Given the description of an element on the screen output the (x, y) to click on. 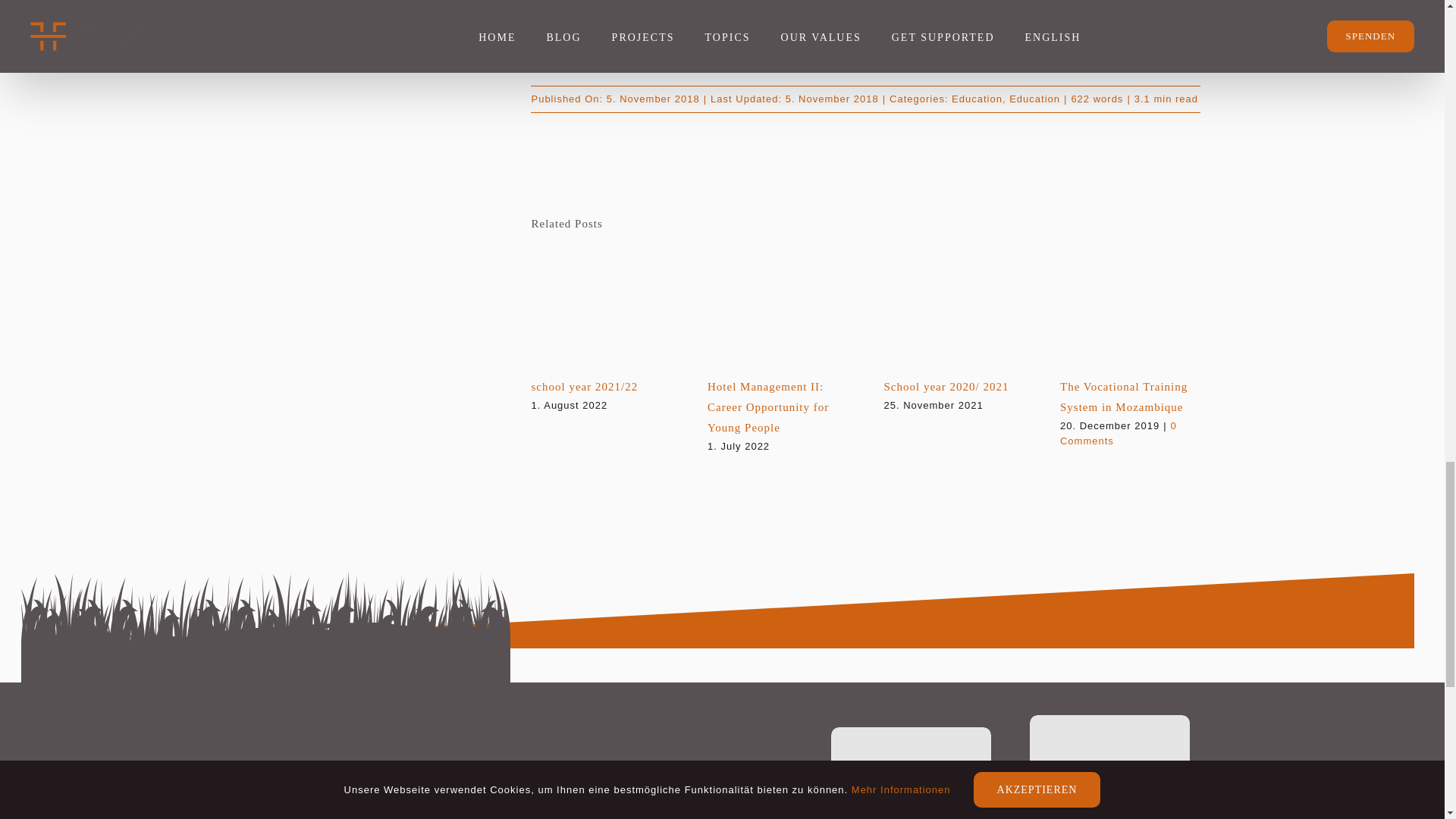
The Vocational Training System in Mozambique (1123, 396)
Education (977, 98)
Education (1034, 98)
Hotel Management II: Career Opportunity for Young People (767, 407)
The Vocational Training System in Mozambique (1123, 396)
Hotel Management II: Career Opportunity for Young People (767, 407)
0 Comments (1117, 433)
